Given the description of an element on the screen output the (x, y) to click on. 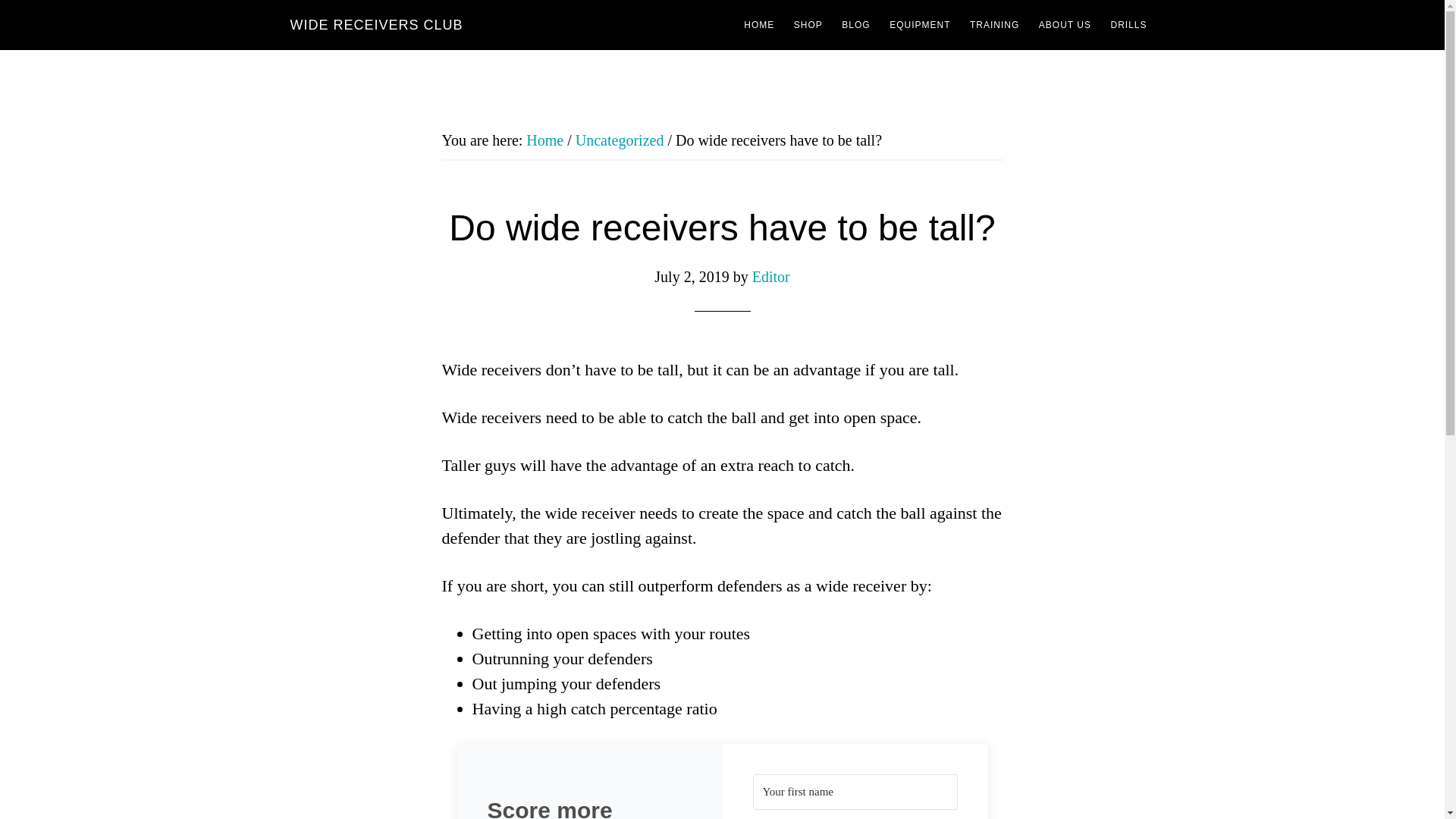
EQUIPMENT (920, 24)
HOME (758, 24)
WIDE RECEIVERS CLUB (376, 24)
